Given the description of an element on the screen output the (x, y) to click on. 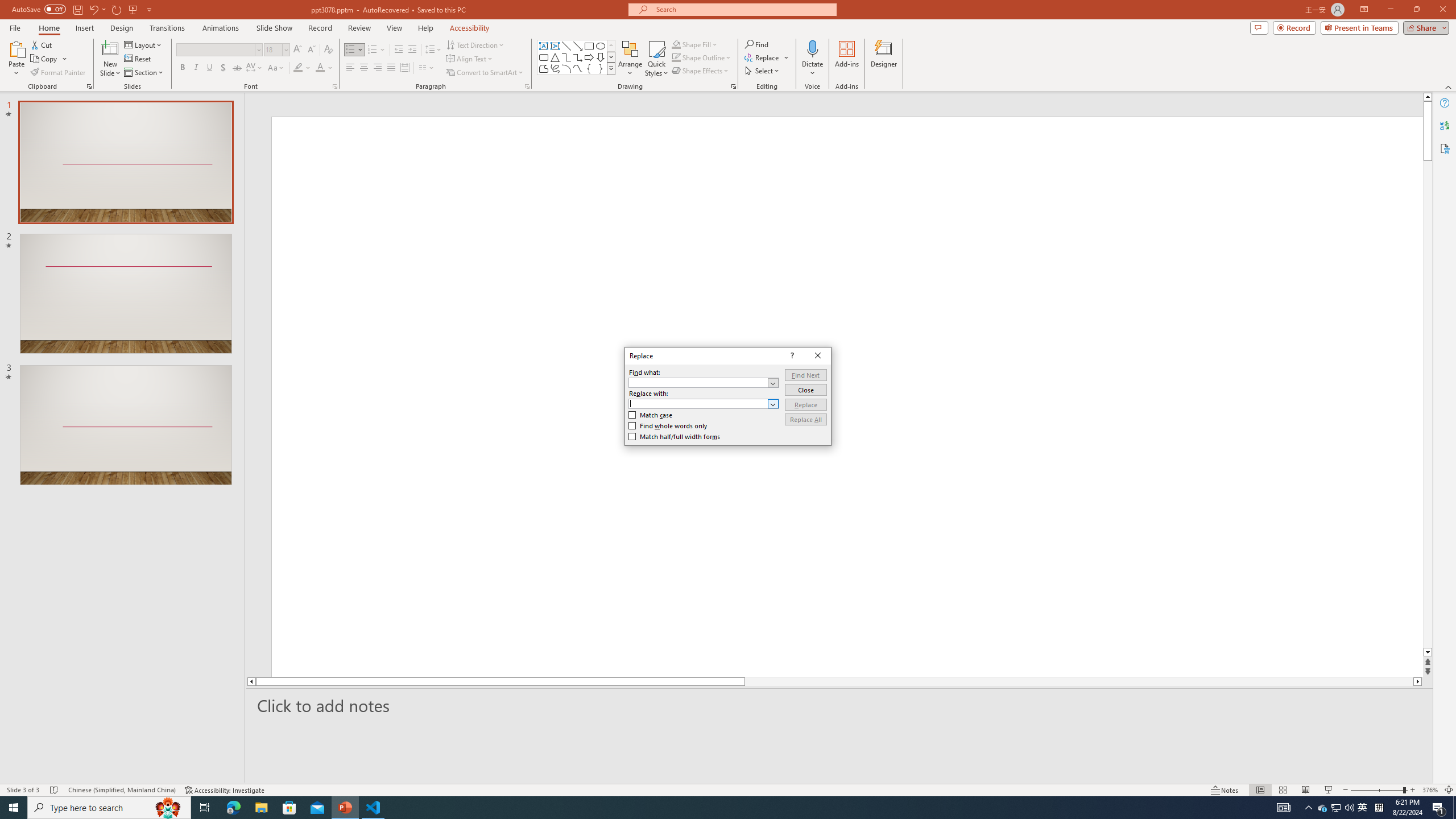
Change Case (276, 67)
Quick Styles (656, 58)
Match case (650, 414)
Paste (16, 58)
Accessibility (1444, 147)
Font Color Red (320, 67)
Increase Font Size (297, 49)
Isosceles Triangle (554, 57)
Find Next (1322, 807)
Distributed (805, 374)
Paste (404, 67)
Find... (16, 48)
